Given the description of an element on the screen output the (x, y) to click on. 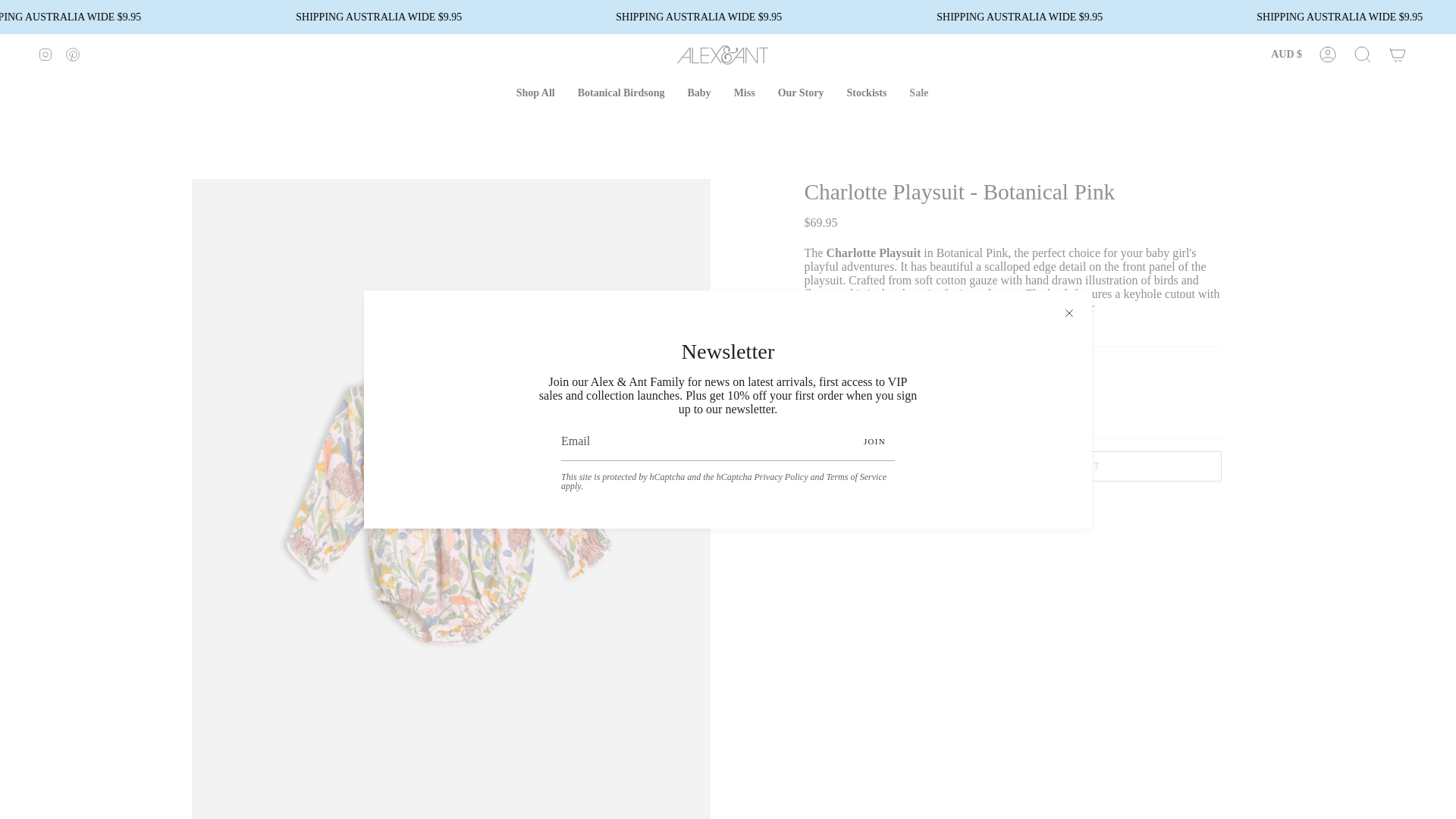
Close (1069, 313)
